Given the description of an element on the screen output the (x, y) to click on. 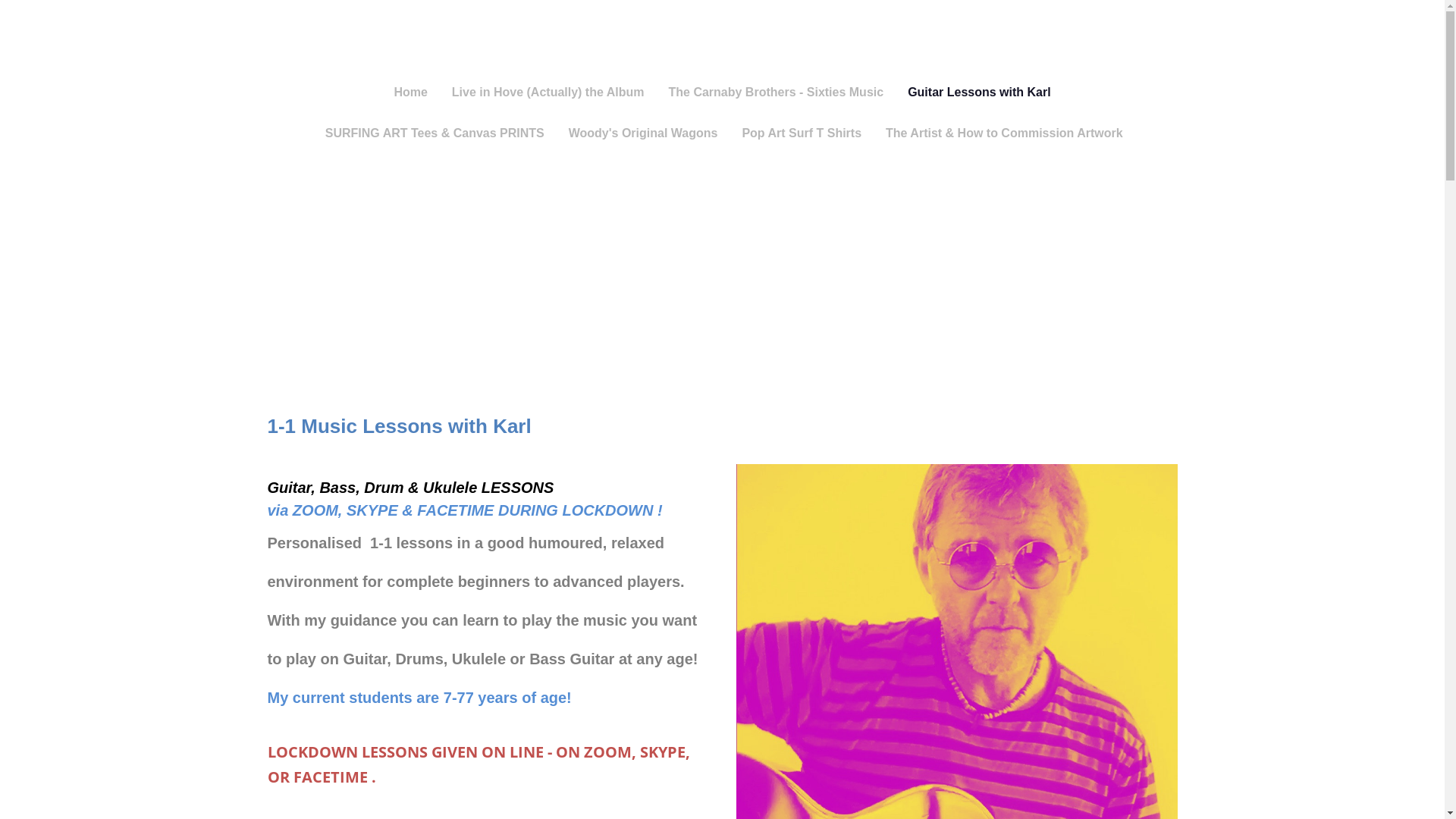
Woody's Original Wagons (643, 133)
Home (410, 92)
Guitar Lessons with Karl (978, 92)
The Carnaby Brothers - Sixties Music (776, 92)
Pop Art Surf T Shirts (801, 133)
